Given the description of an element on the screen output the (x, y) to click on. 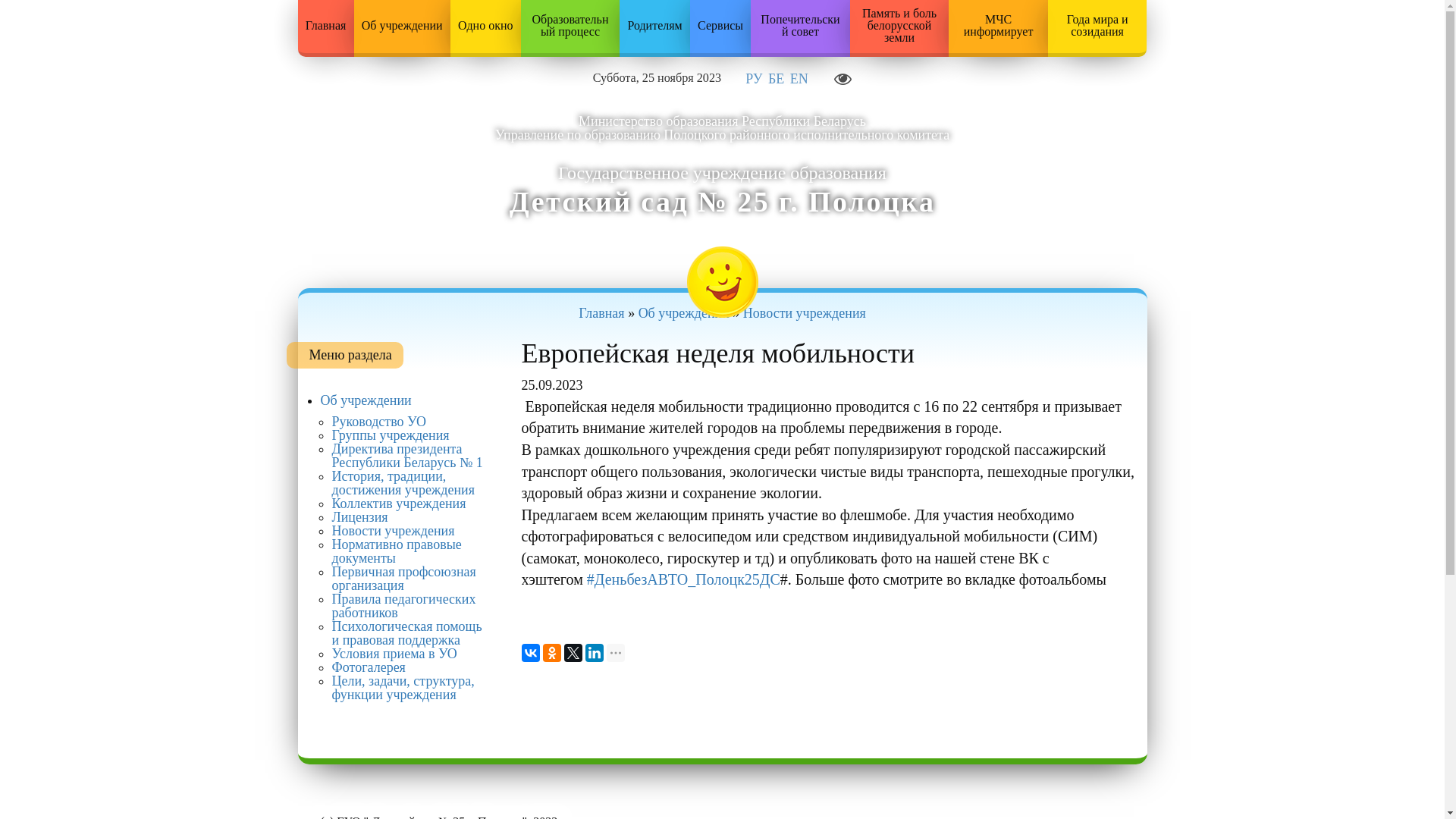
Twitter Element type: hover (573, 652)
EN Element type: text (799, 78)
LinkedIn Element type: hover (594, 652)
